Given the description of an element on the screen output the (x, y) to click on. 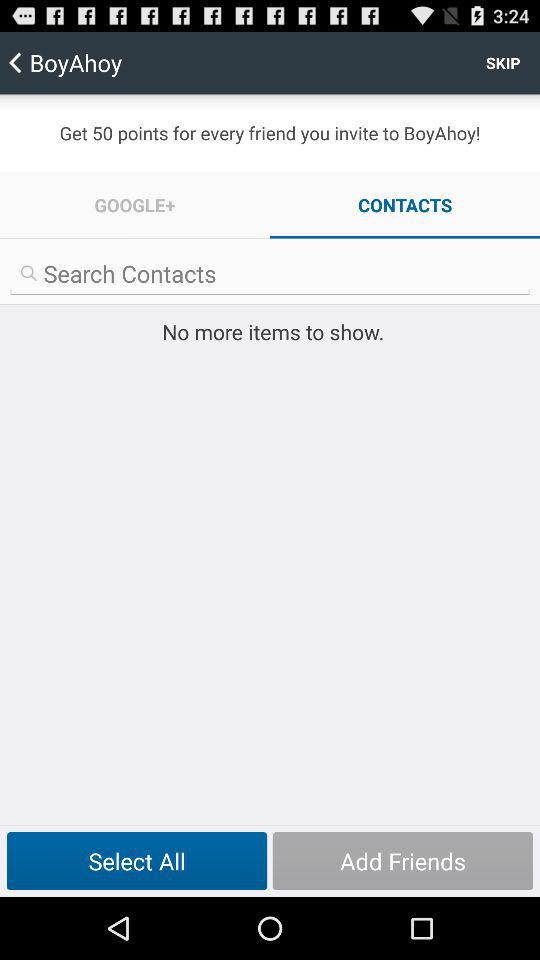
scroll to the google+ icon (135, 204)
